Given the description of an element on the screen output the (x, y) to click on. 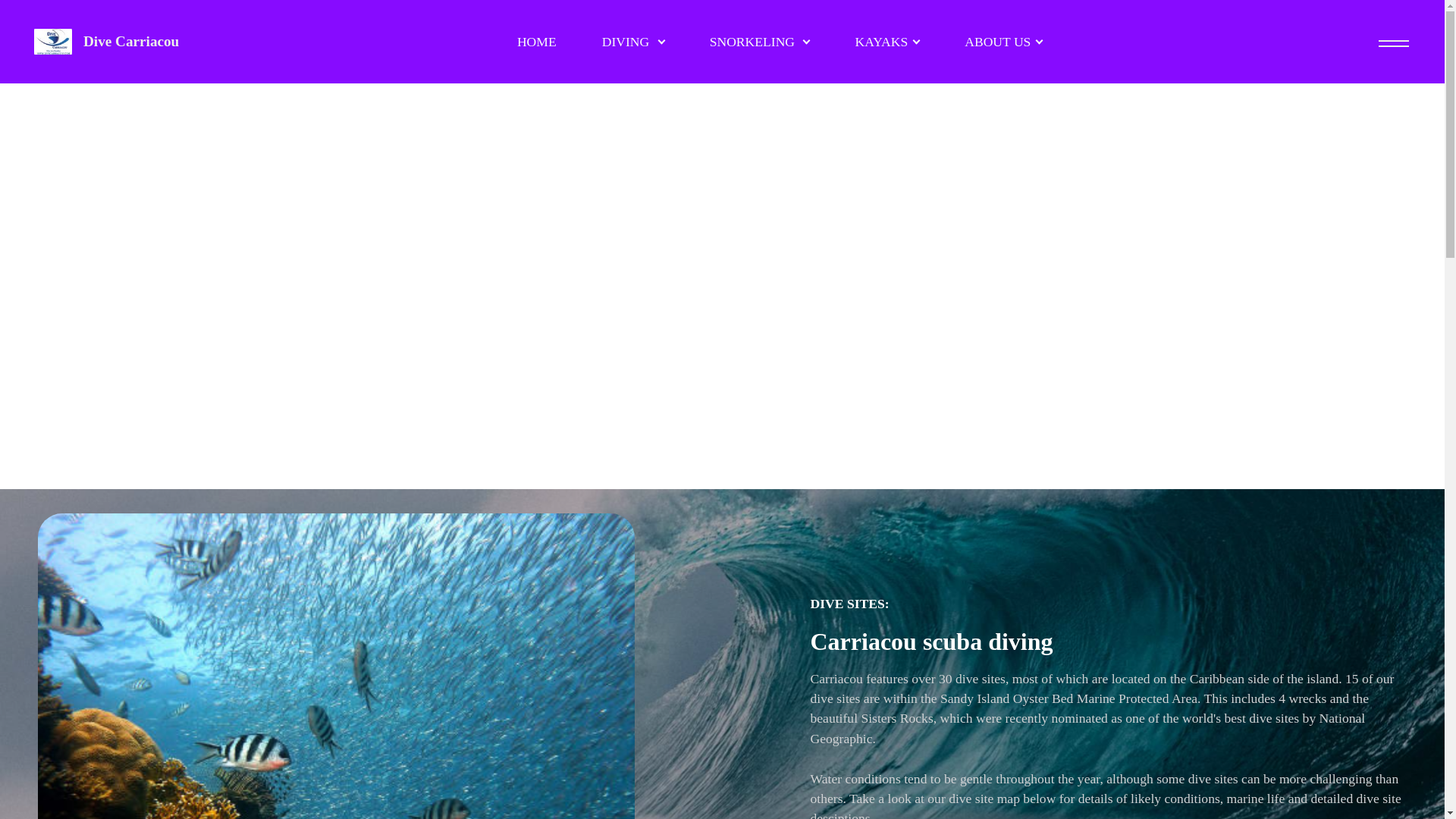
SNORKELING  (758, 41)
DIVING  (632, 41)
HOME (536, 41)
ABOUT US (1002, 41)
Dive Carriacou (130, 41)
KAYAKS (886, 41)
